Given the description of an element on the screen output the (x, y) to click on. 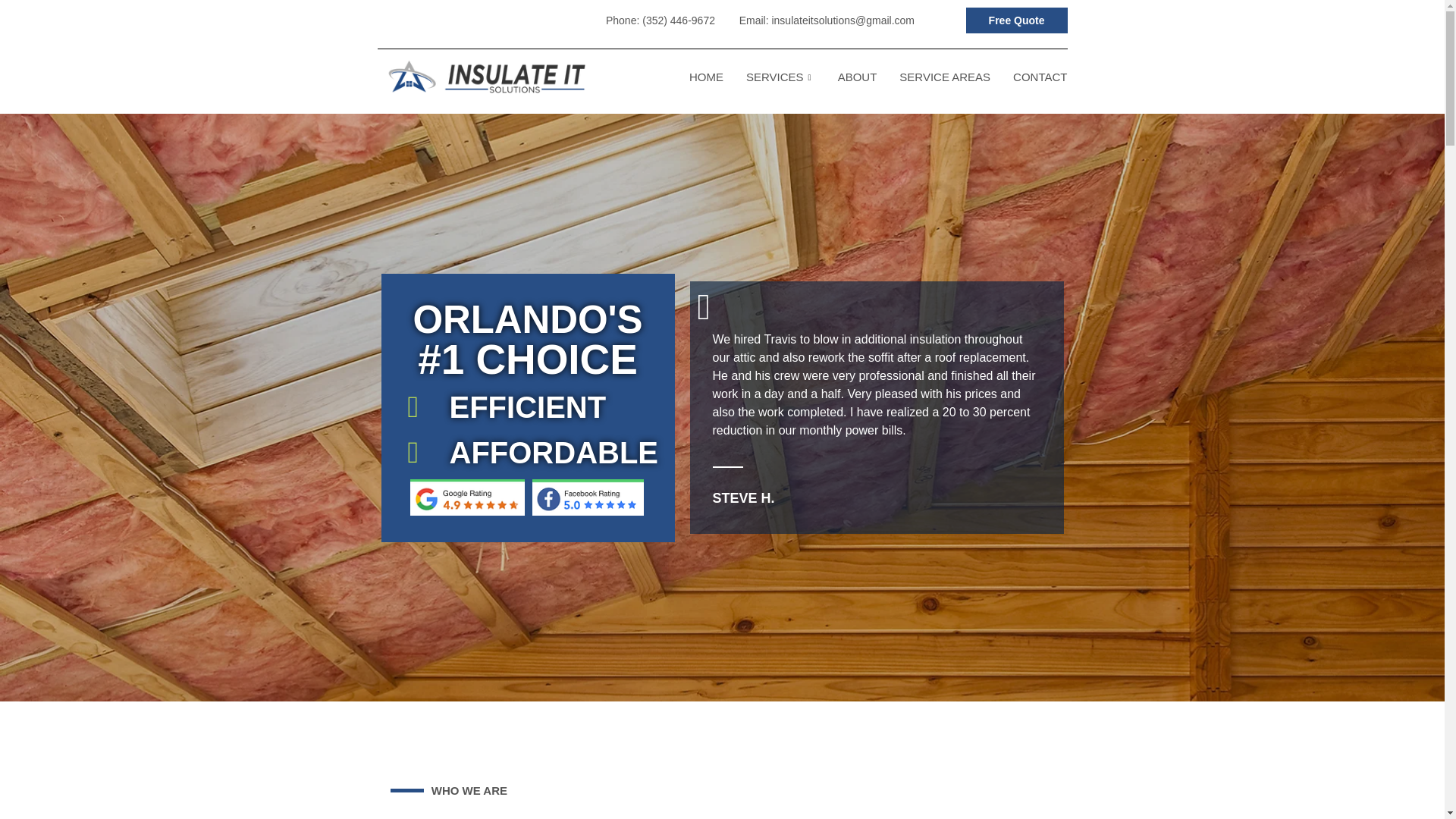
CONTACT (1039, 77)
SERVICES (781, 77)
Free Quote (1016, 20)
HOME (706, 77)
SERVICE AREAS (944, 77)
ABOUT (857, 77)
